Given the description of an element on the screen output the (x, y) to click on. 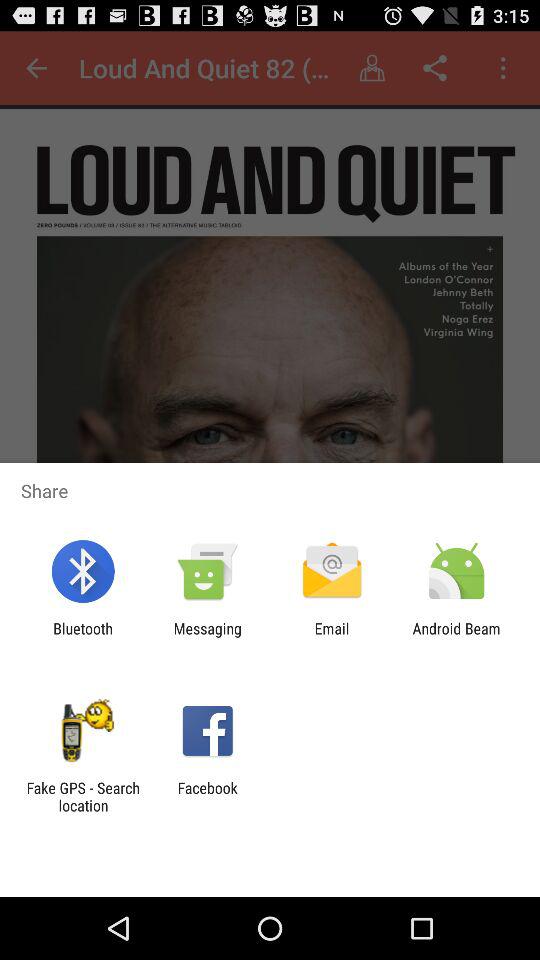
select the item next to the fake gps search item (207, 796)
